Given the description of an element on the screen output the (x, y) to click on. 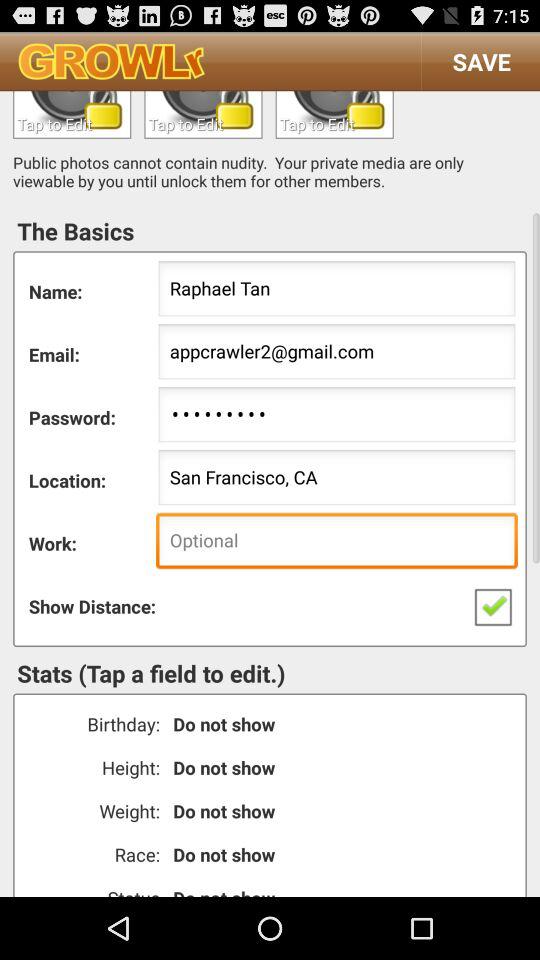
edit (203, 114)
